Given the description of an element on the screen output the (x, y) to click on. 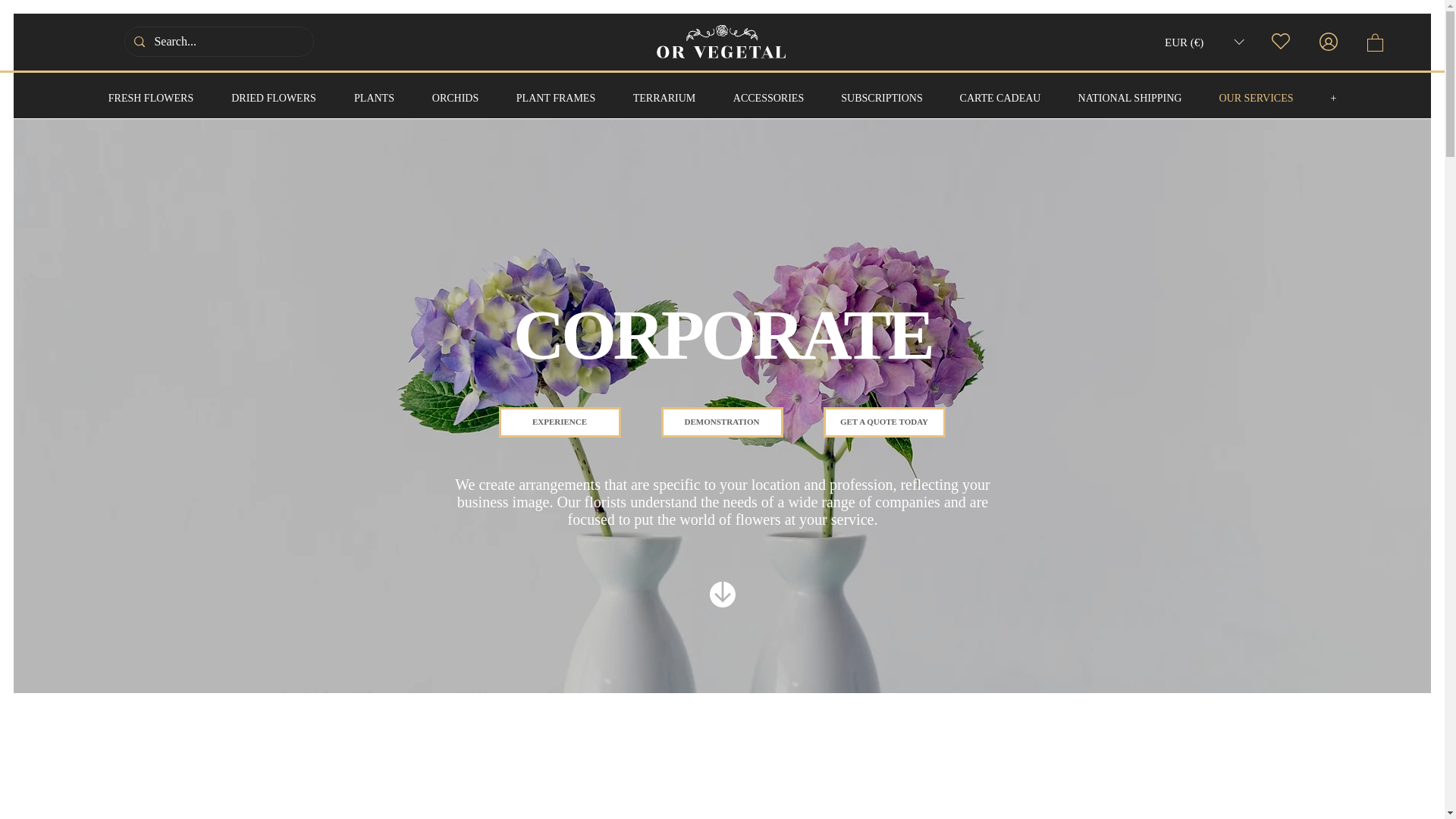
NATIONAL SHIPPING (1129, 91)
GET A QUOTE TODAY (884, 422)
ACCESSORIES (768, 91)
CARTE CADEAU (999, 91)
FRESH FLOWERS (150, 91)
OUR SERVICES (1255, 91)
PLANTS (373, 91)
PLANT FRAMES (555, 91)
DRIED FLOWERS (273, 91)
TERRARIUM (664, 91)
ORCHIDS (455, 91)
SUBSCRIPTIONS (881, 91)
DEMONSTRATION (722, 422)
EXPERIENCE (560, 422)
